Given the description of an element on the screen output the (x, y) to click on. 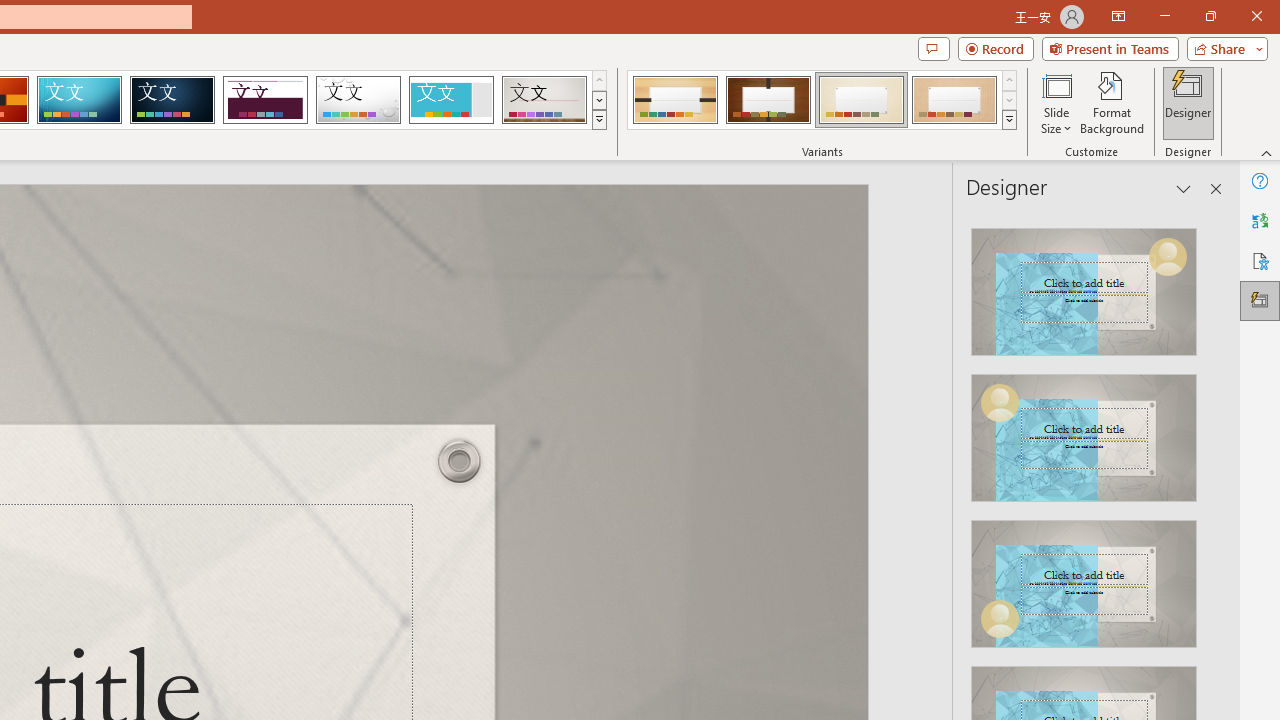
Organic Variant 3 (861, 100)
Row up (1009, 79)
Themes (598, 120)
Restore Down (1210, 16)
Design Idea (1083, 577)
Row Down (1009, 100)
Dividend (265, 100)
Variants (1009, 120)
Recommended Design: Design Idea (1083, 286)
Close pane (1215, 188)
Task Pane Options (1183, 188)
